Given the description of an element on the screen output the (x, y) to click on. 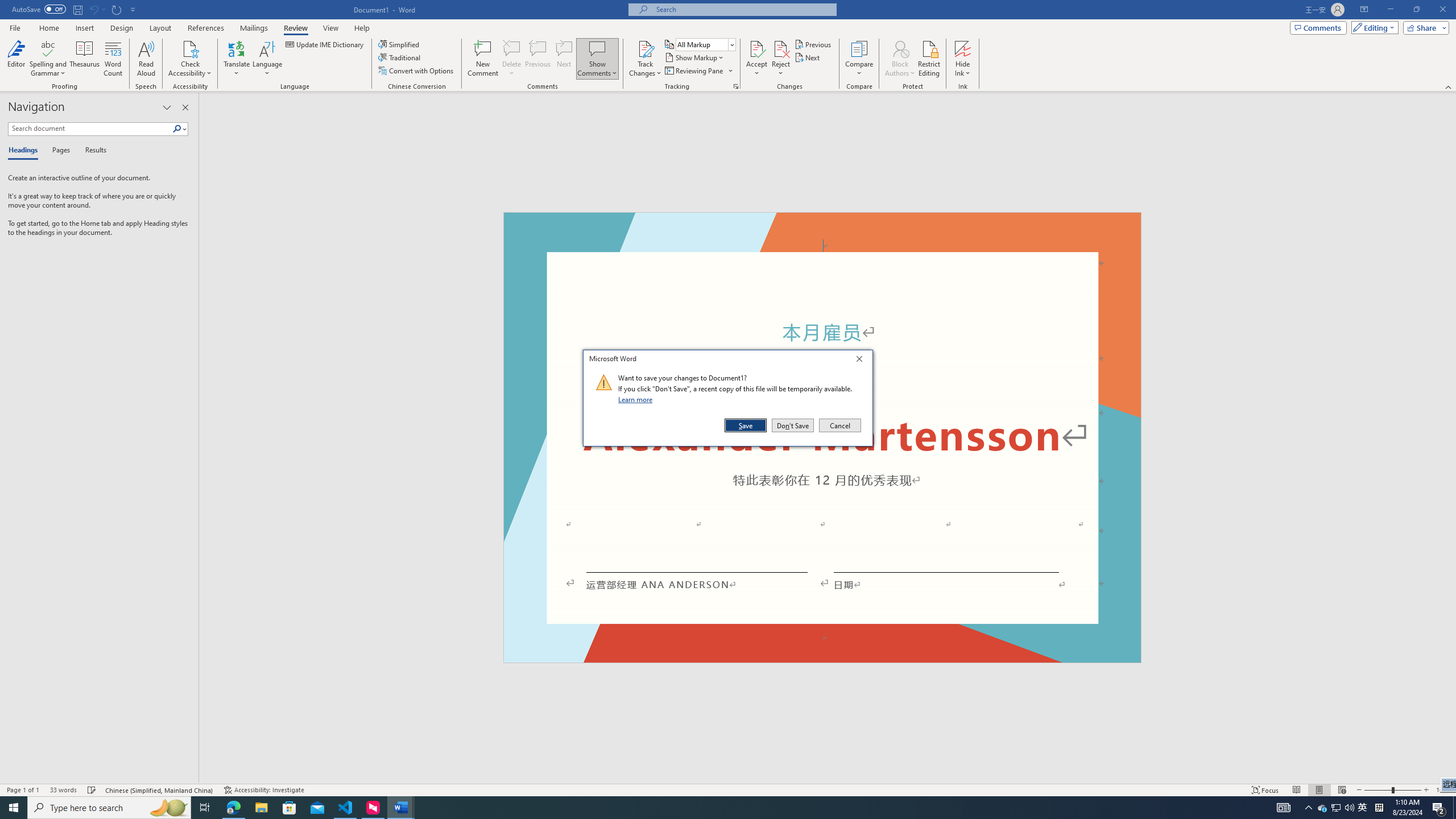
Delete (511, 48)
Compare (859, 58)
Hide Ink (962, 58)
Running applications (700, 807)
Accept (756, 58)
